Given the description of an element on the screen output the (x, y) to click on. 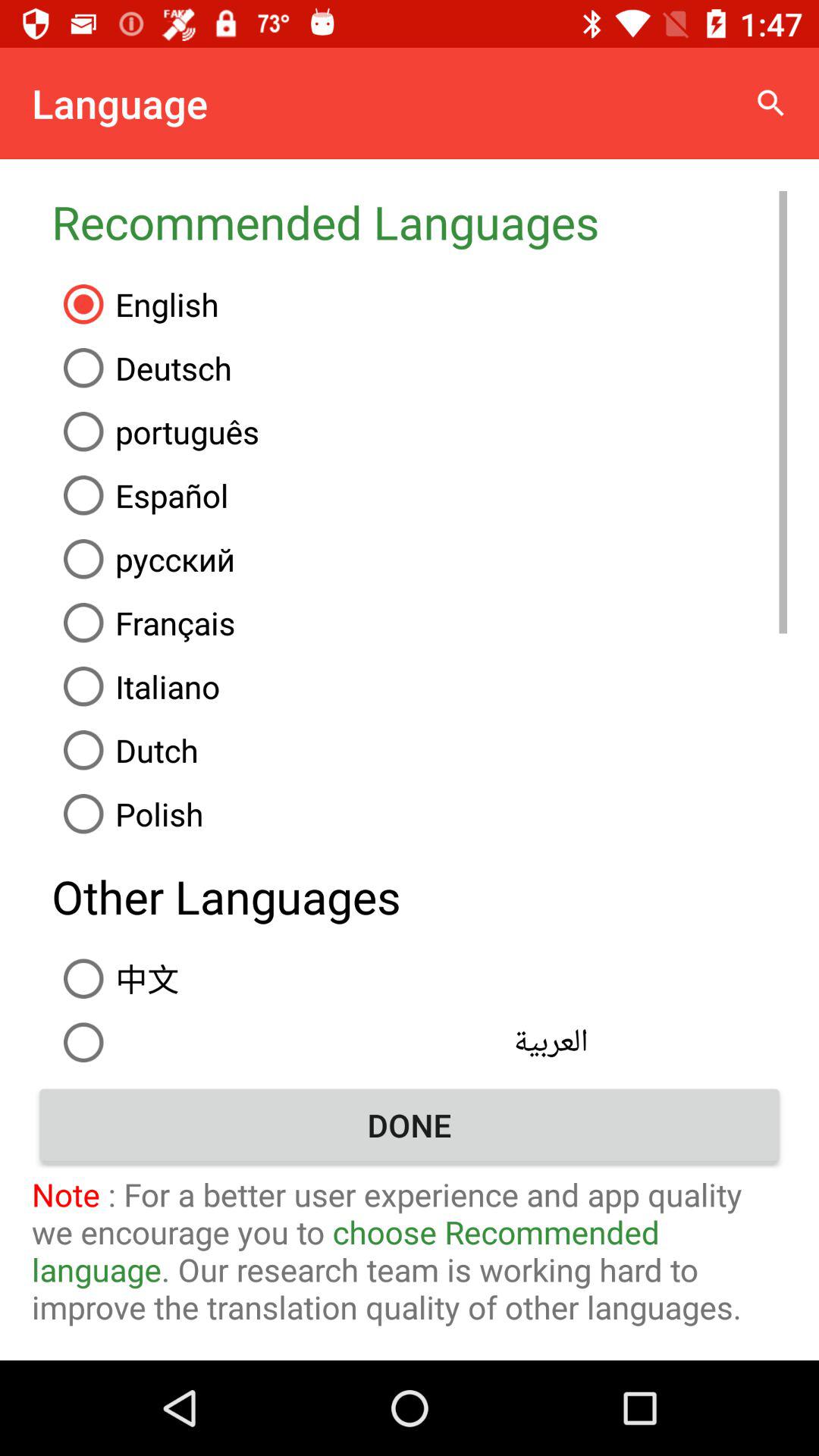
select icon above the recommended languages (771, 103)
